Given the description of an element on the screen output the (x, y) to click on. 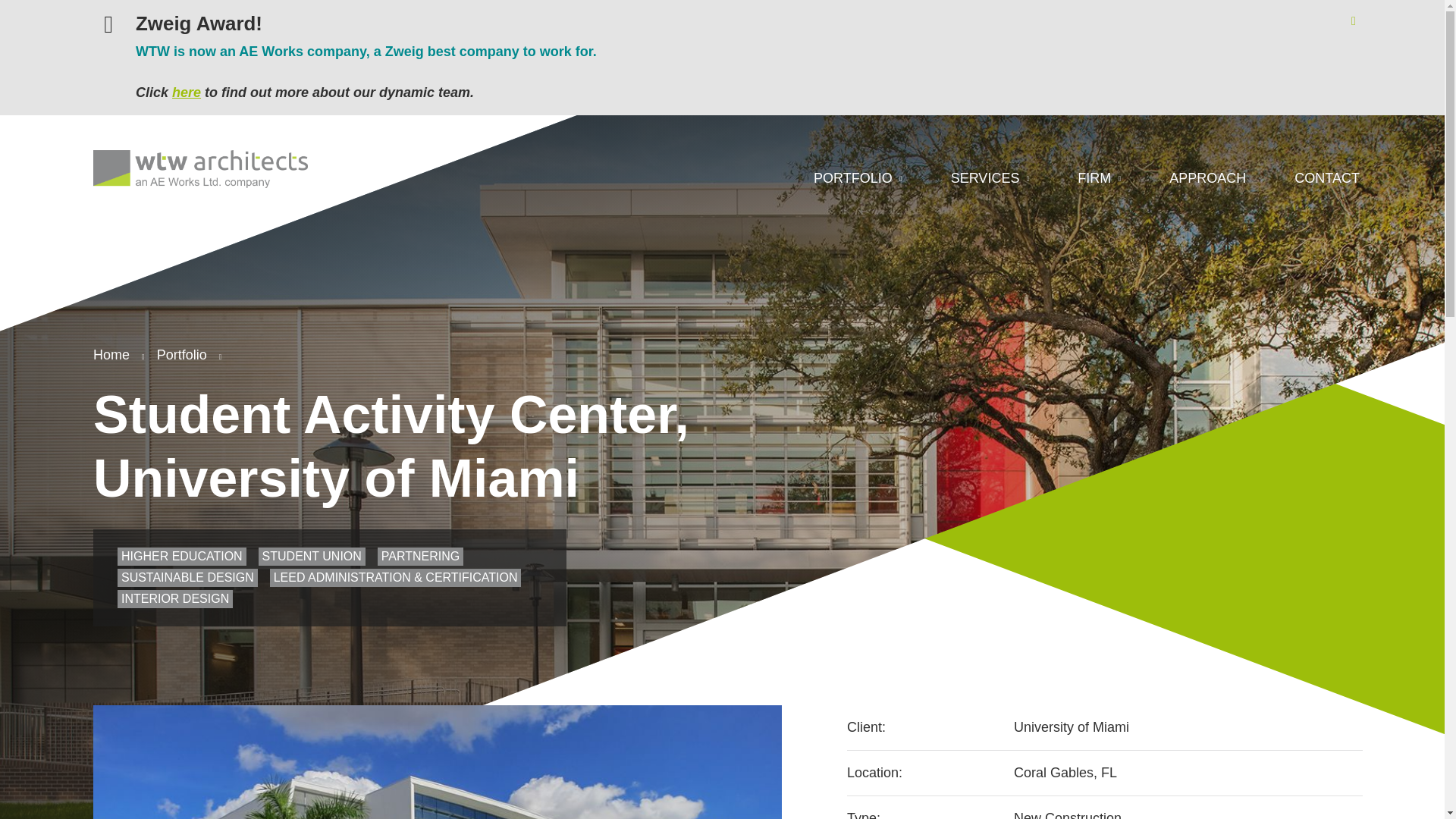
Close (1352, 21)
here (185, 92)
PORTFOLIO (857, 178)
WTW Architects (200, 169)
SERVICES (989, 178)
